Given the description of an element on the screen output the (x, y) to click on. 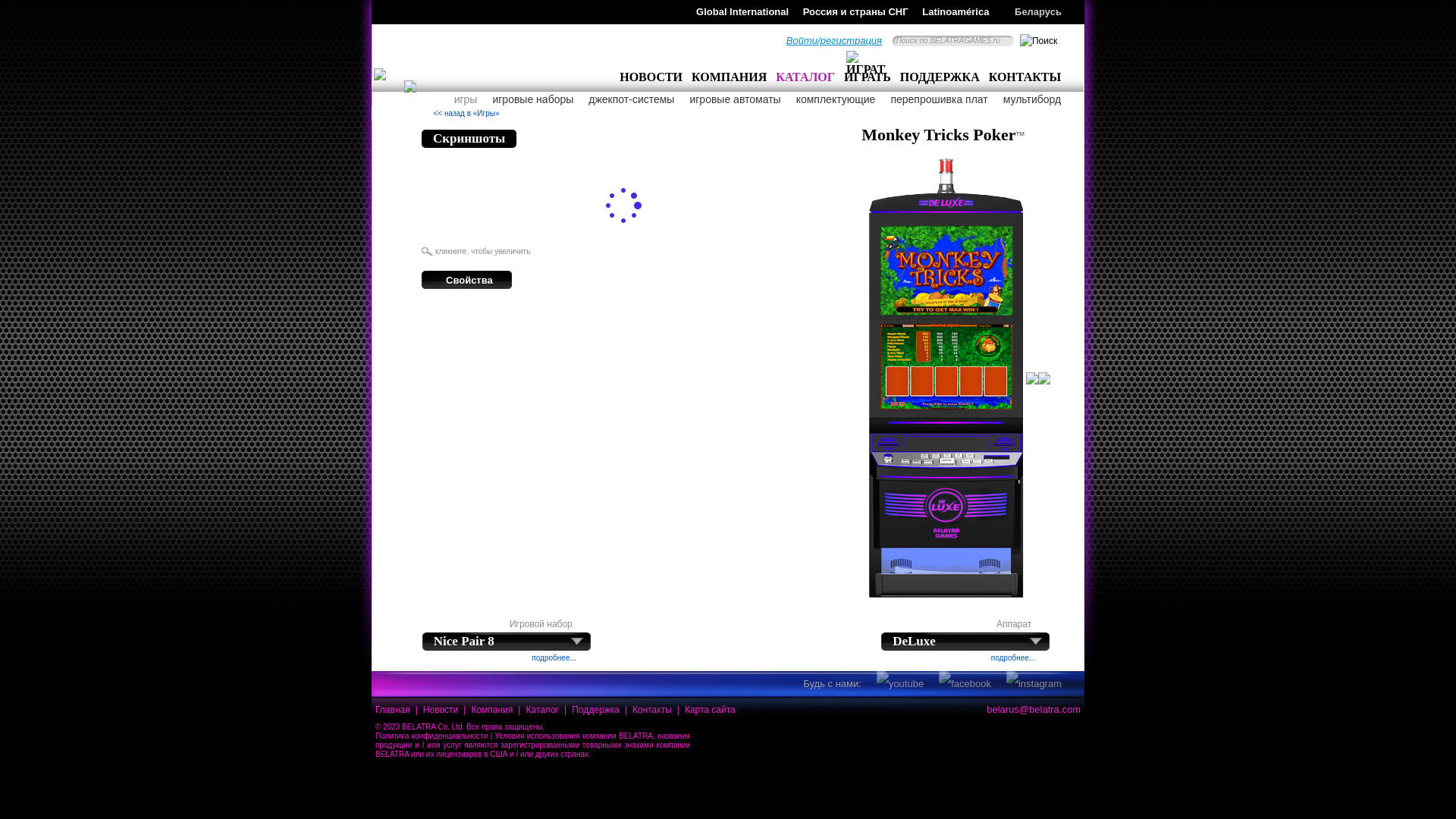
youtube Element type: hover (899, 683)
instagram Element type: hover (1033, 683)
facebook Element type: hover (964, 683)
Monkey Tricks Poker. Element type: hover (497, 220)
Global International Element type: text (736, 12)
belarus@belatra.com Element type: text (1033, 709)
